Given the description of an element on the screen output the (x, y) to click on. 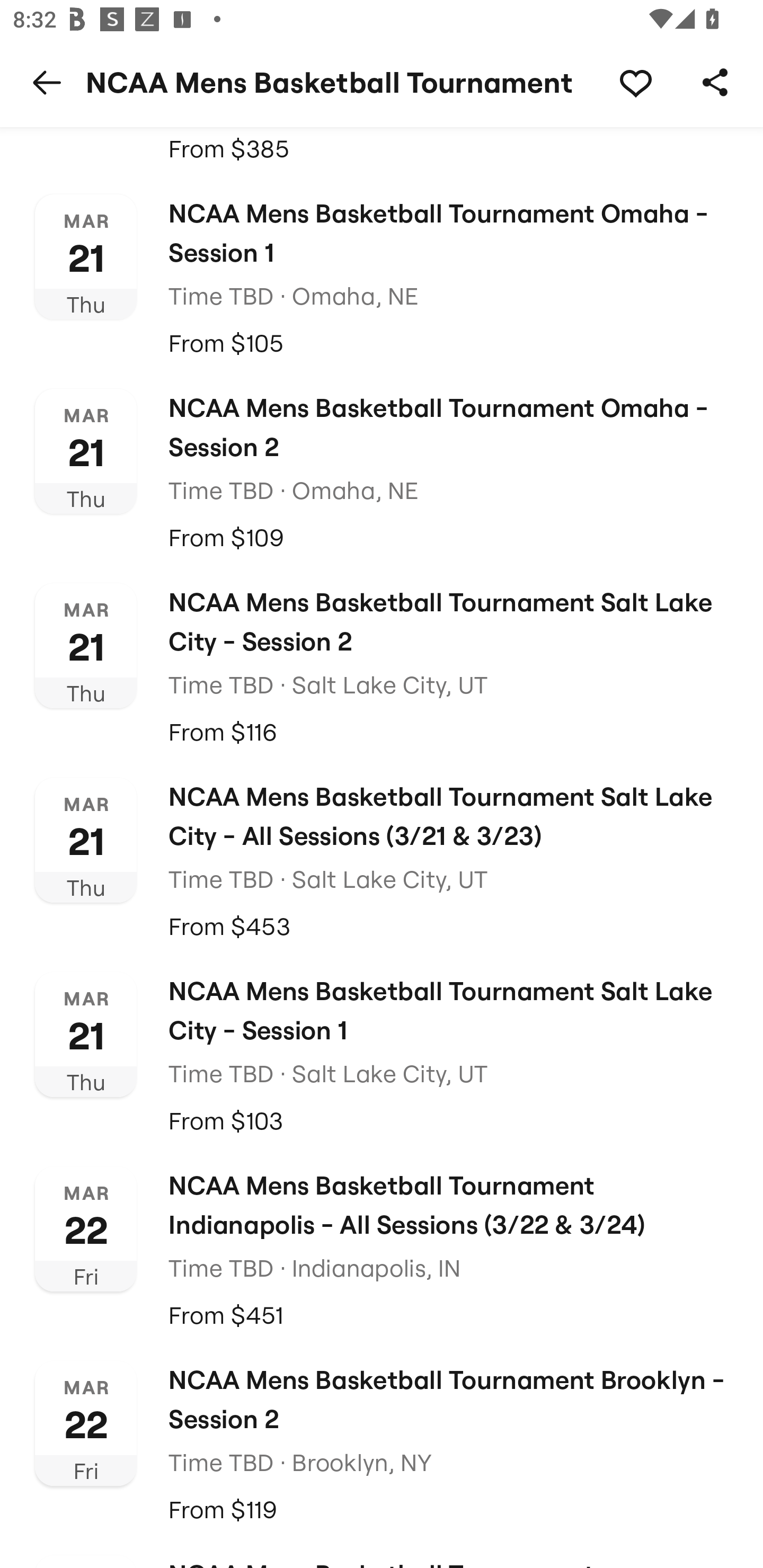
Back (47, 81)
Track this performer (635, 81)
Share this performer (715, 81)
